Given the description of an element on the screen output the (x, y) to click on. 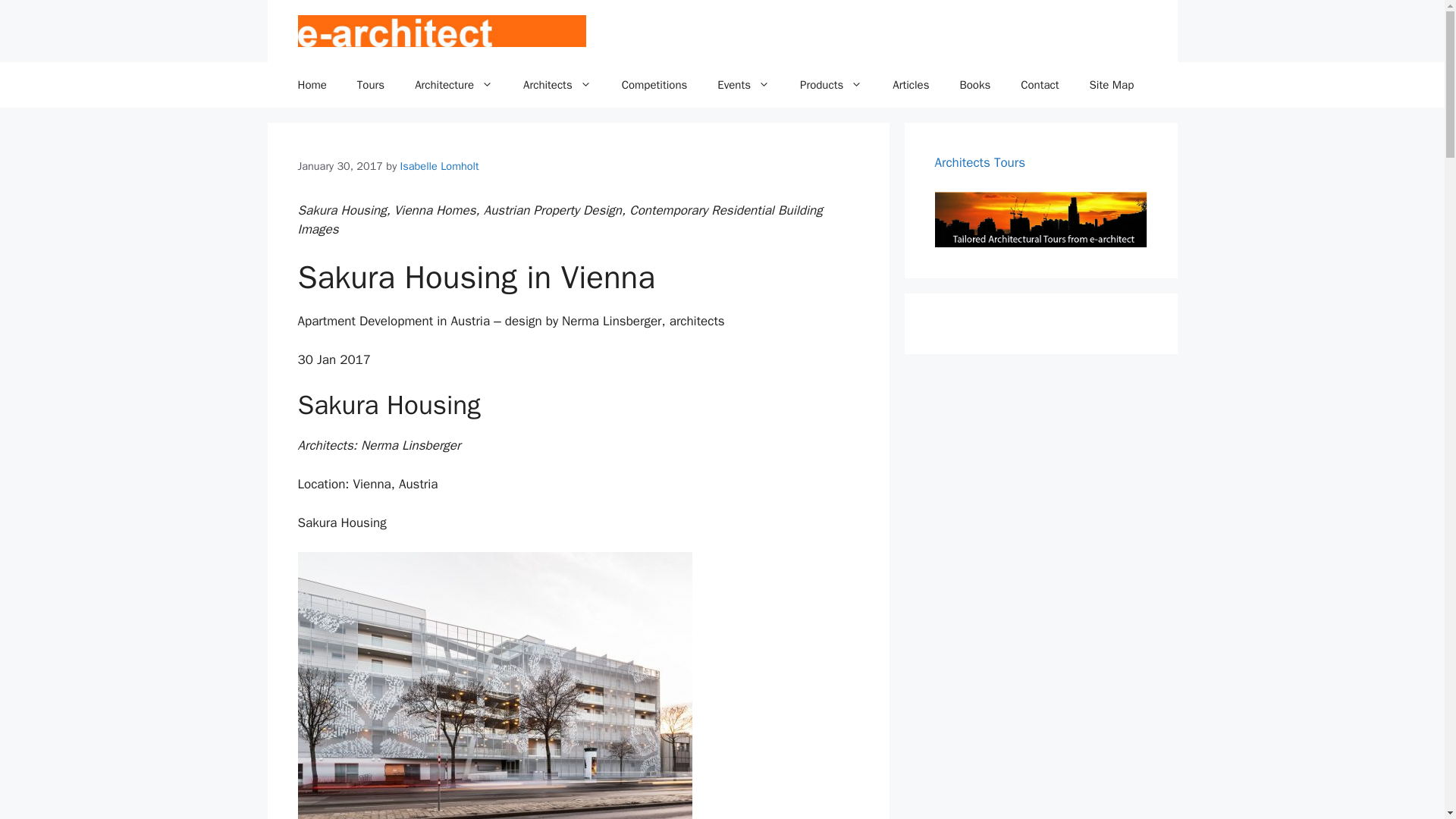
Isabelle Lomholt (439, 165)
Articles (910, 84)
Tours (370, 84)
Home (311, 84)
Books (974, 84)
Competitions (655, 84)
Products (830, 84)
Architecture (453, 84)
Site Map (1112, 84)
Contact (1040, 84)
View all posts by Isabelle Lomholt (439, 165)
Home (311, 84)
Events (742, 84)
Architects (557, 84)
